Given the description of an element on the screen output the (x, y) to click on. 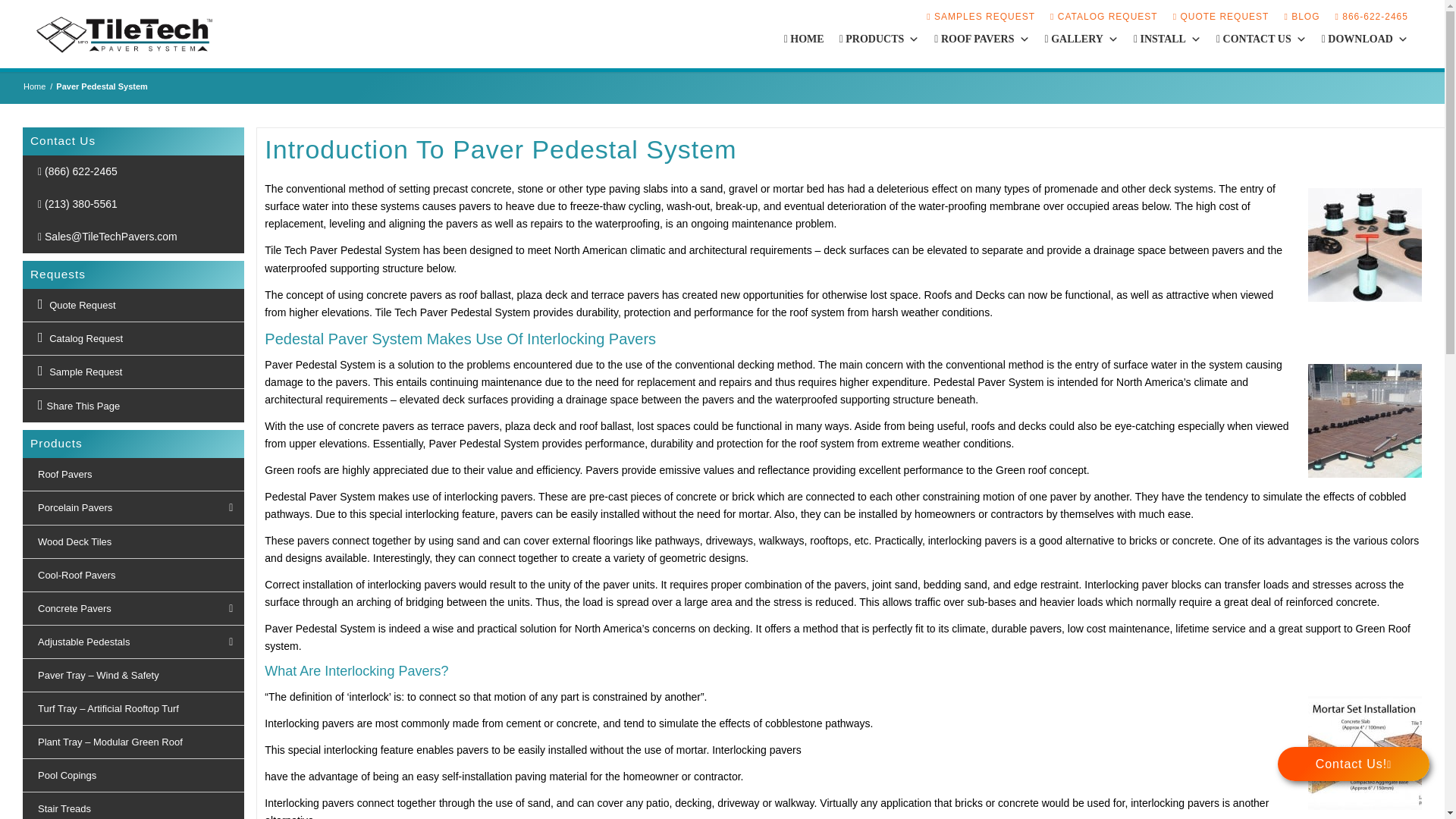
Tile Tech Pavers (34, 86)
CATALOG REQUEST (1103, 16)
BLOG (1301, 16)
PRODUCTS (879, 38)
QUOTE REQUEST (1221, 16)
TileTech Logo FL WHITE (124, 33)
ROOF PAVERS (981, 38)
HOME (803, 38)
SAMPLES REQUEST (980, 16)
866-622-2465 (1371, 16)
